Given the description of an element on the screen output the (x, y) to click on. 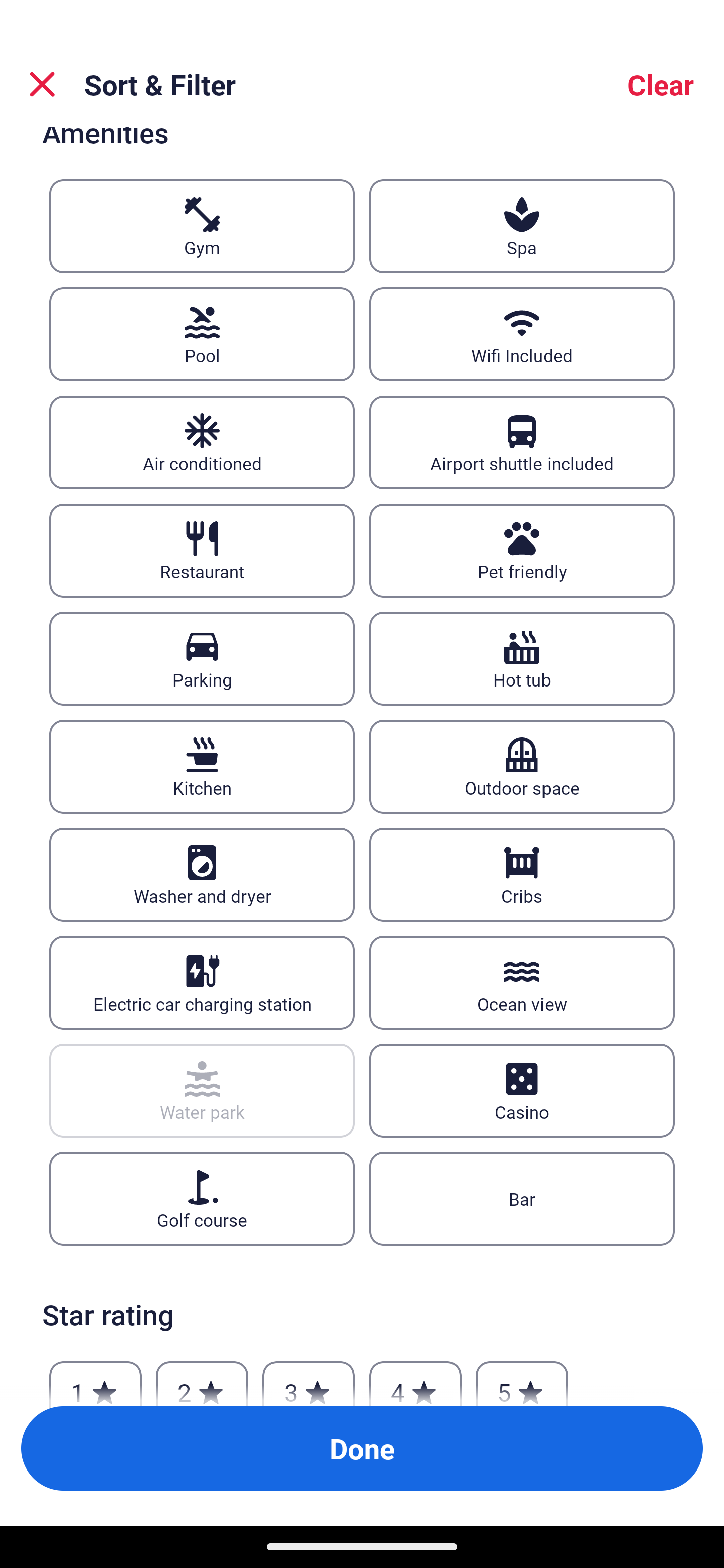
Close Sort and Filter (42, 84)
Clear (660, 84)
Gym (201, 225)
Spa (521, 225)
Pool (201, 333)
Wifi Included (521, 333)
Air conditioned (201, 442)
Airport shuttle included (521, 442)
Restaurant (201, 550)
Pet friendly (521, 550)
Parking (201, 658)
Hot tub (521, 658)
Kitchen (201, 766)
Outdoor space (521, 766)
Washer and dryer (201, 874)
Cribs (521, 874)
Electric car charging station (201, 983)
Ocean view (521, 983)
Water park (201, 1091)
Casino (521, 1091)
Golf course (201, 1199)
Bar (521, 1199)
1 (95, 1378)
2 (201, 1378)
3 (308, 1378)
4 (415, 1378)
5 (521, 1378)
Apply and close Sort and Filter Done (361, 1448)
